Given the description of an element on the screen output the (x, y) to click on. 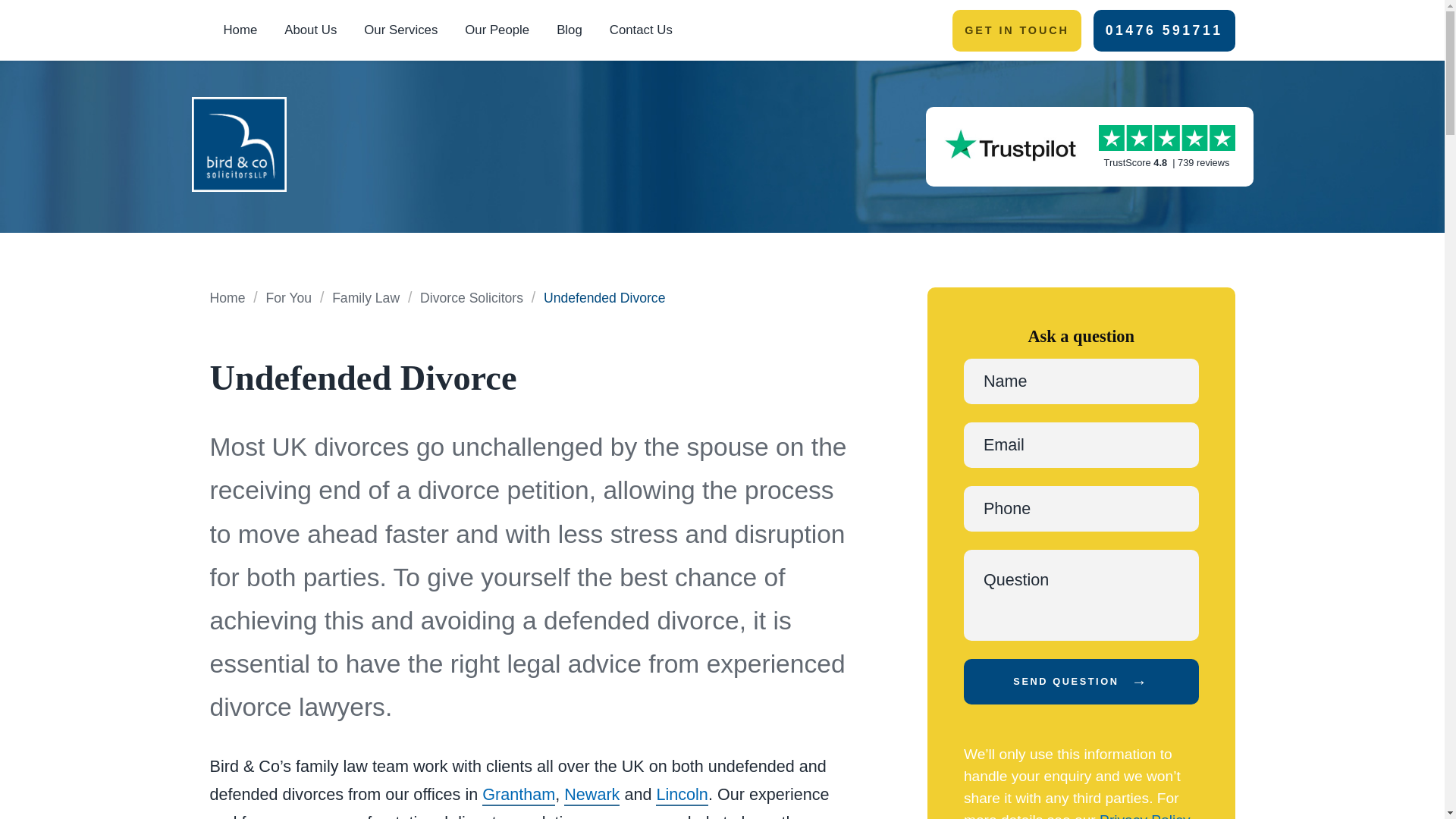
About Us (310, 30)
Our Services (400, 30)
Home (239, 30)
